Given the description of an element on the screen output the (x, y) to click on. 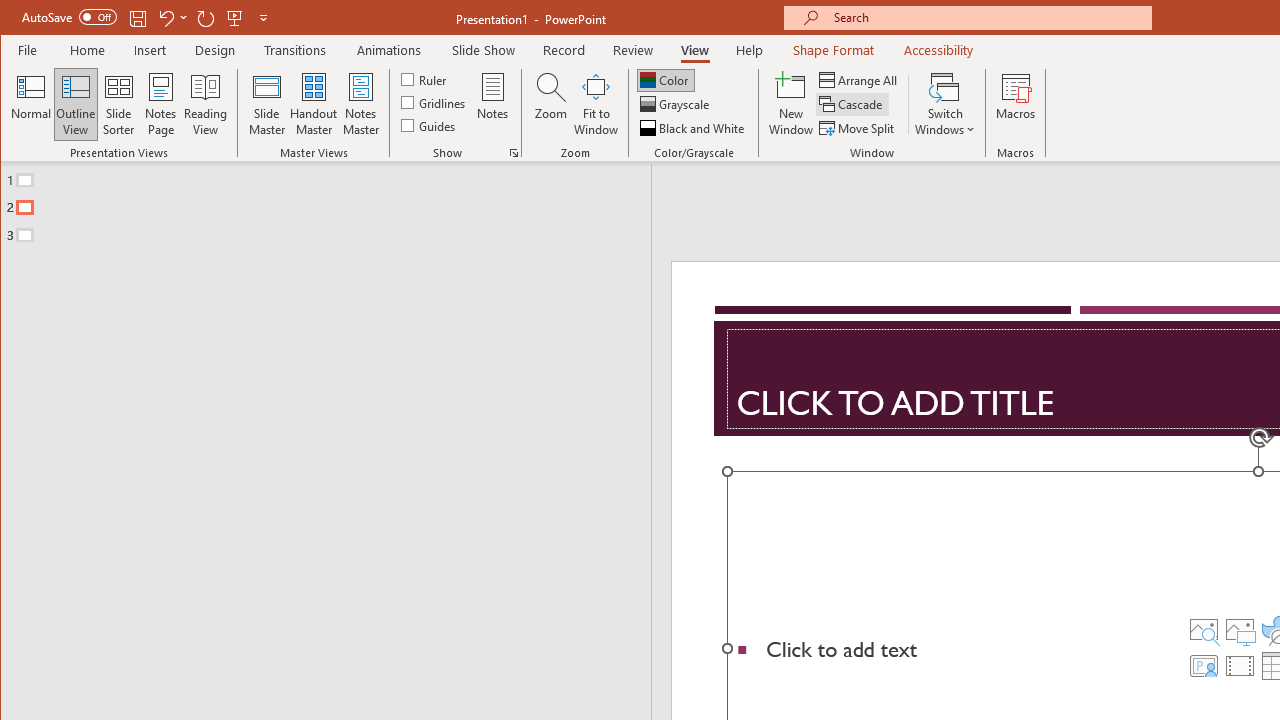
Arrange All (859, 80)
Slide Master (266, 104)
Handout Master (314, 104)
Insert Video (1239, 665)
Macros (1016, 104)
Grid Settings... (513, 152)
Black and White (694, 127)
Outline (334, 203)
Notes Page (160, 104)
